Given the description of an element on the screen output the (x, y) to click on. 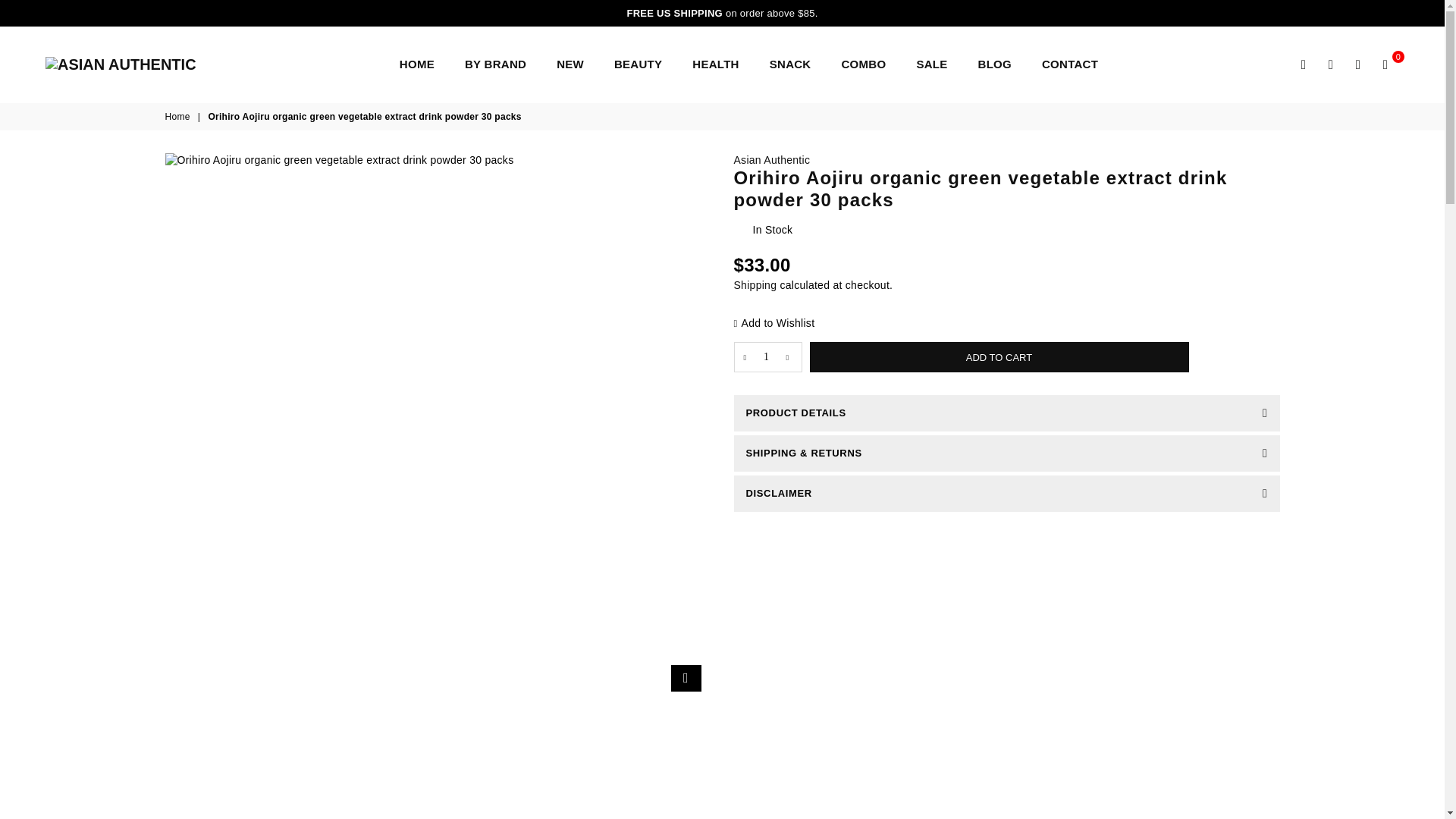
Cart (1385, 64)
Search (1303, 64)
Settings (1330, 64)
Quantity (767, 357)
BY BRAND (494, 64)
Back to the home page (178, 116)
HOME (416, 64)
Wishlist (1357, 64)
ASIAN AUTHENTIC (139, 64)
Asian Authentic (771, 159)
